Given the description of an element on the screen output the (x, y) to click on. 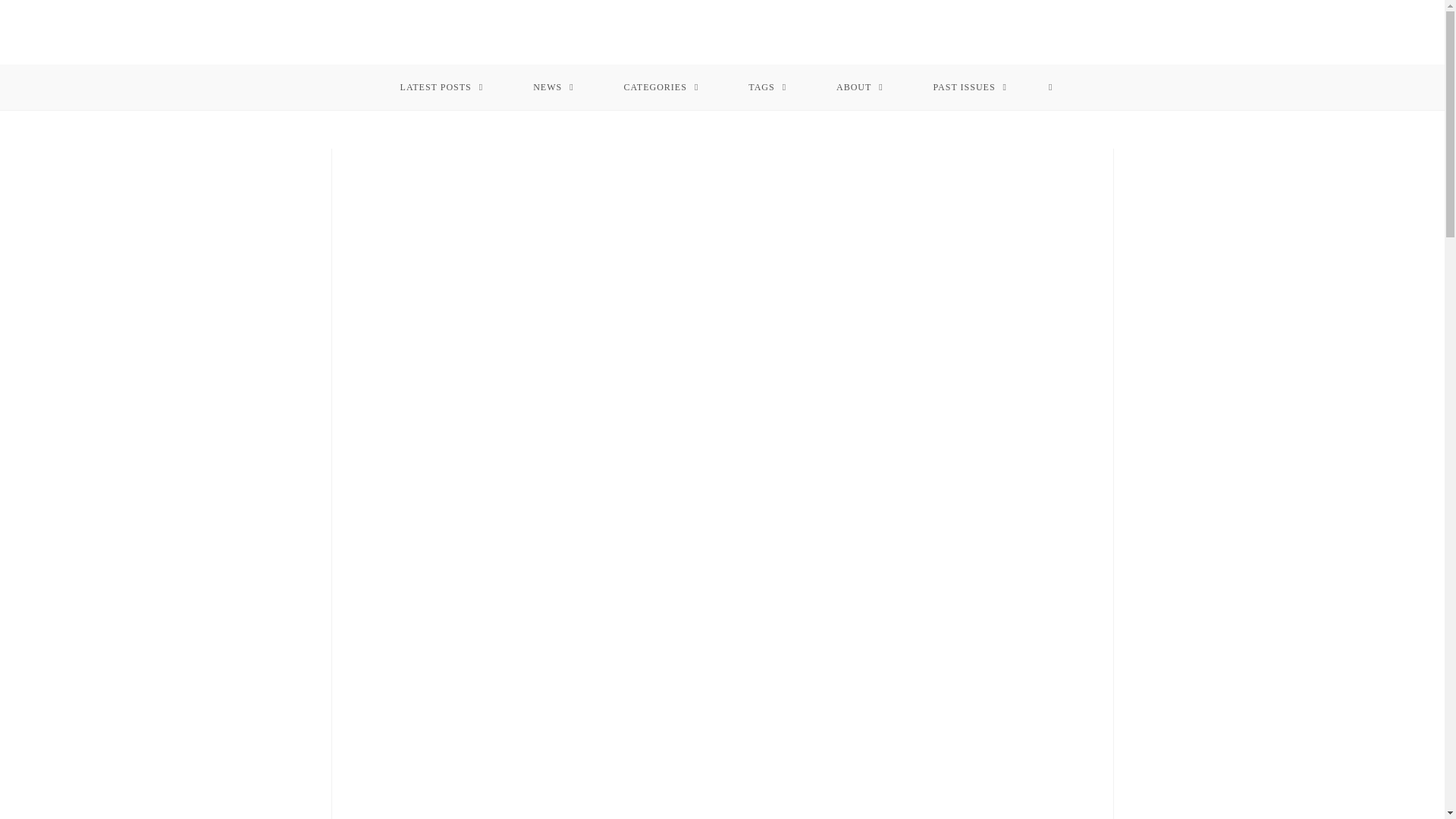
ABOUT (859, 86)
TAGS (766, 86)
PAST ISSUES (970, 86)
LATEST POSTS (441, 86)
CATEGORIES (660, 86)
NEWS (553, 86)
